Given the description of an element on the screen output the (x, y) to click on. 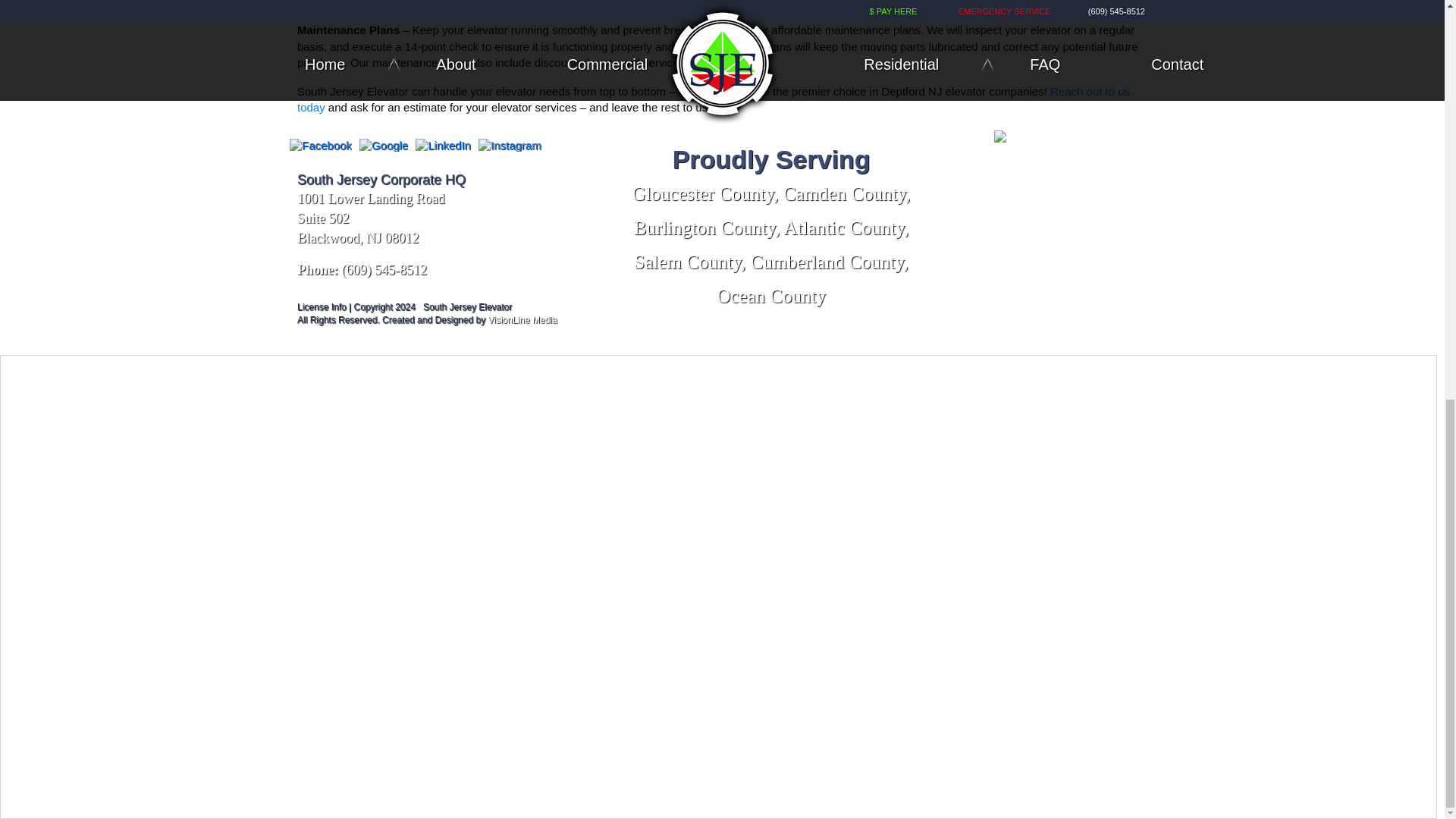
Camden County (844, 193)
Instagram (509, 144)
LinkedIn (442, 144)
LinkedIn (443, 144)
Gloucester County (702, 193)
Reach out to us today (713, 99)
Facebook (320, 144)
Cumberland County (827, 261)
Atlantic County (843, 227)
VisionLine Media (521, 319)
Burlington County (704, 227)
Ocean County (770, 295)
Instagram (510, 144)
Salem County (687, 261)
Google (383, 144)
